Given the description of an element on the screen output the (x, y) to click on. 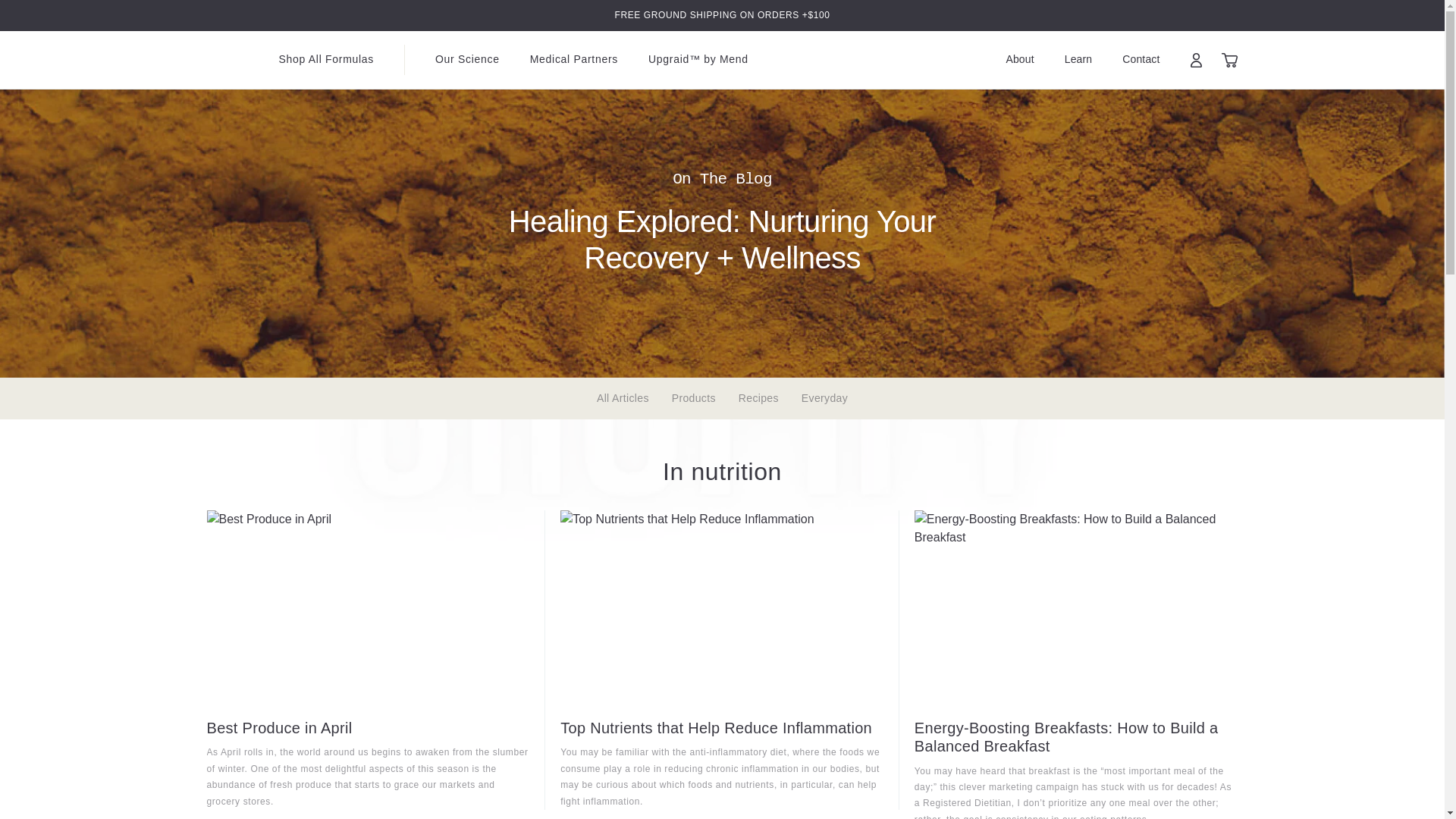
Contact (1140, 59)
Our Science (467, 59)
Cart (1230, 59)
Learn (1078, 59)
Medical Partners (573, 59)
Shop All Formulas (326, 59)
About (1019, 59)
Skip to content (37, 14)
Account (1196, 60)
